Given the description of an element on the screen output the (x, y) to click on. 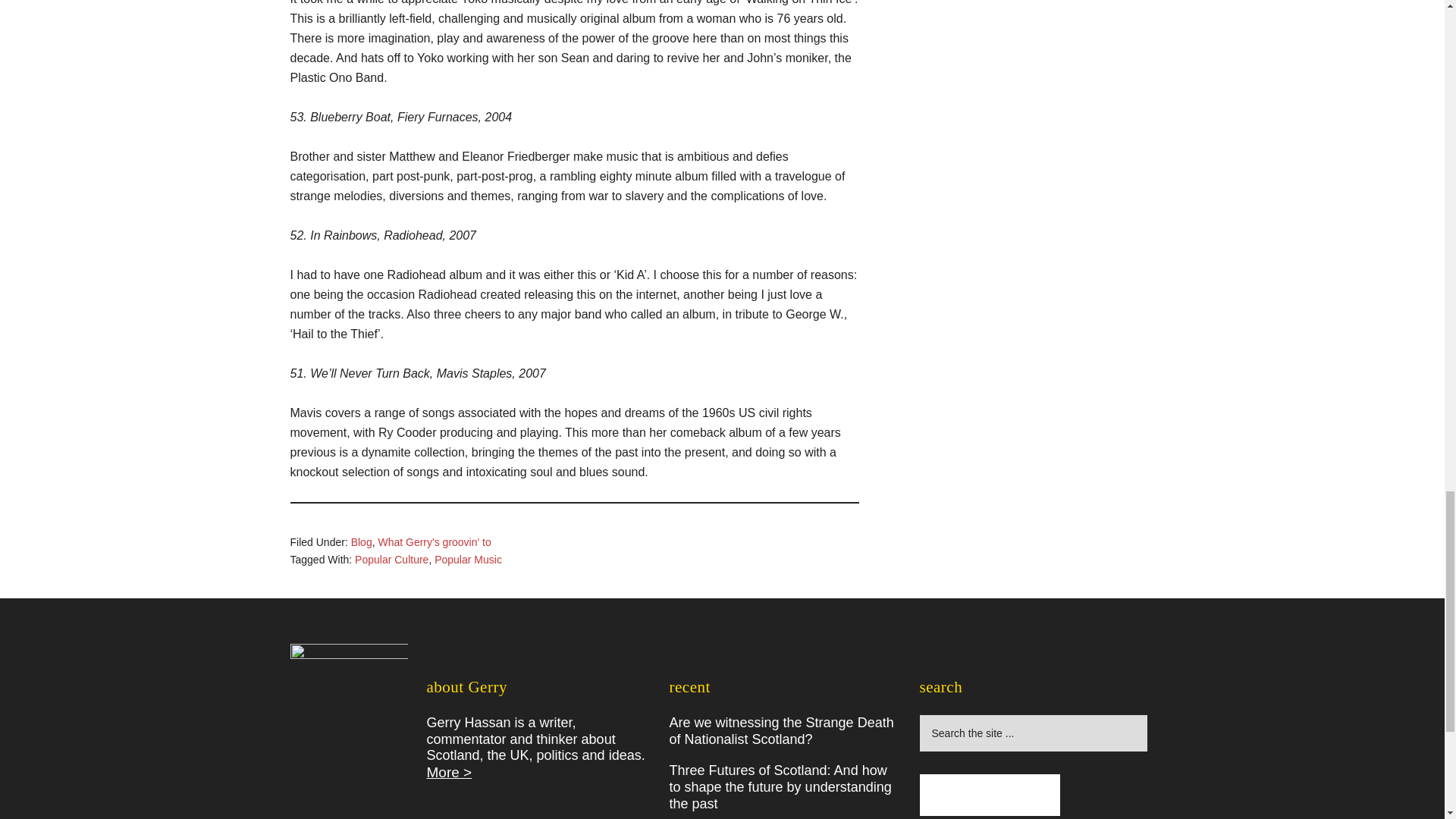
Gerry Hassan Facebook Page (988, 794)
Popular Music (467, 559)
Blog (361, 541)
Popular Culture (391, 559)
What Gerry's groovin' to (433, 541)
